Given the description of an element on the screen output the (x, y) to click on. 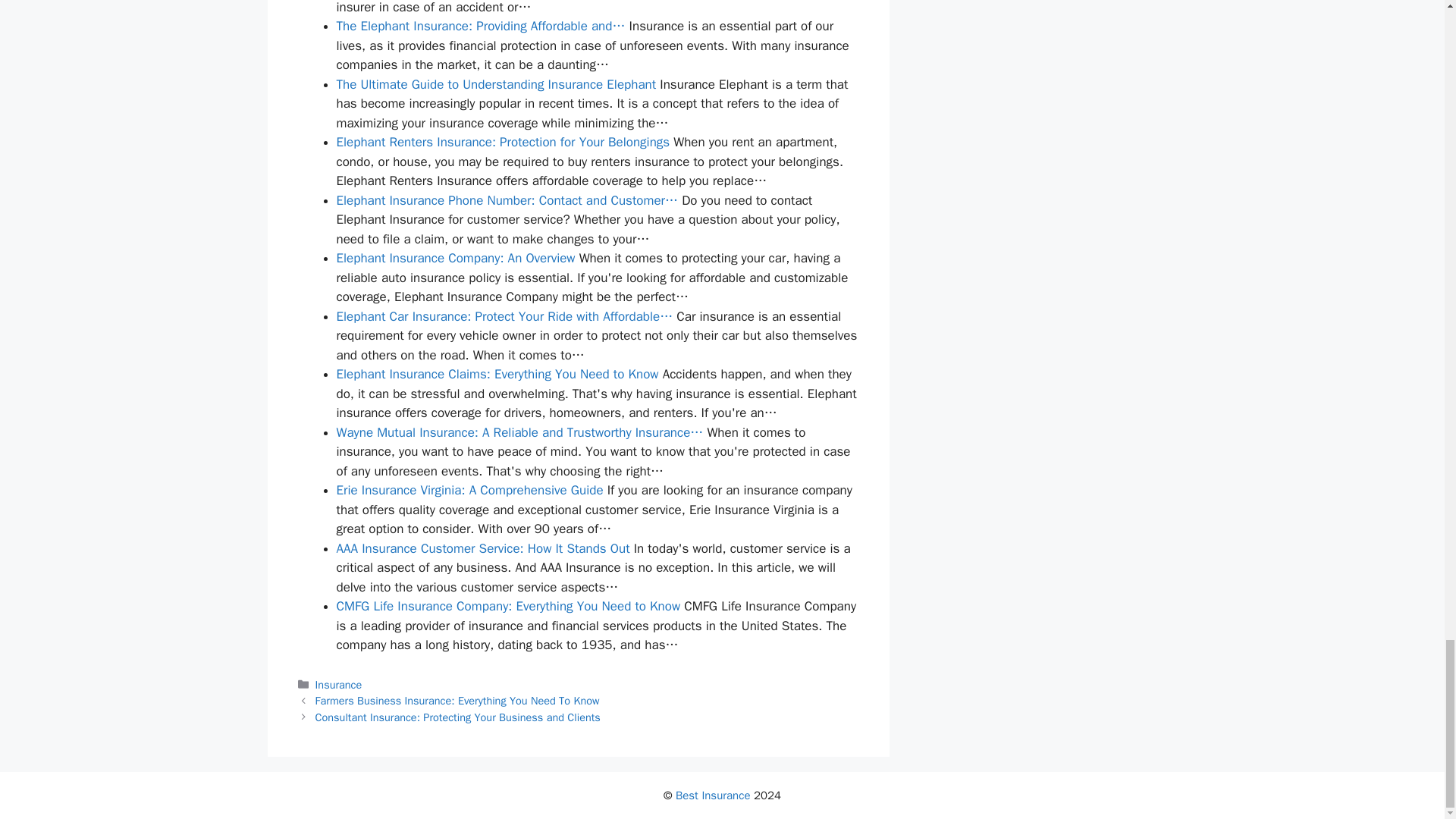
Elephant Insurance Company: An Overview (455, 258)
Elephant Renters Insurance: Protection for Your Belongings (502, 141)
The Ultimate Guide to Understanding Insurance Elephant (496, 84)
